Given the description of an element on the screen output the (x, y) to click on. 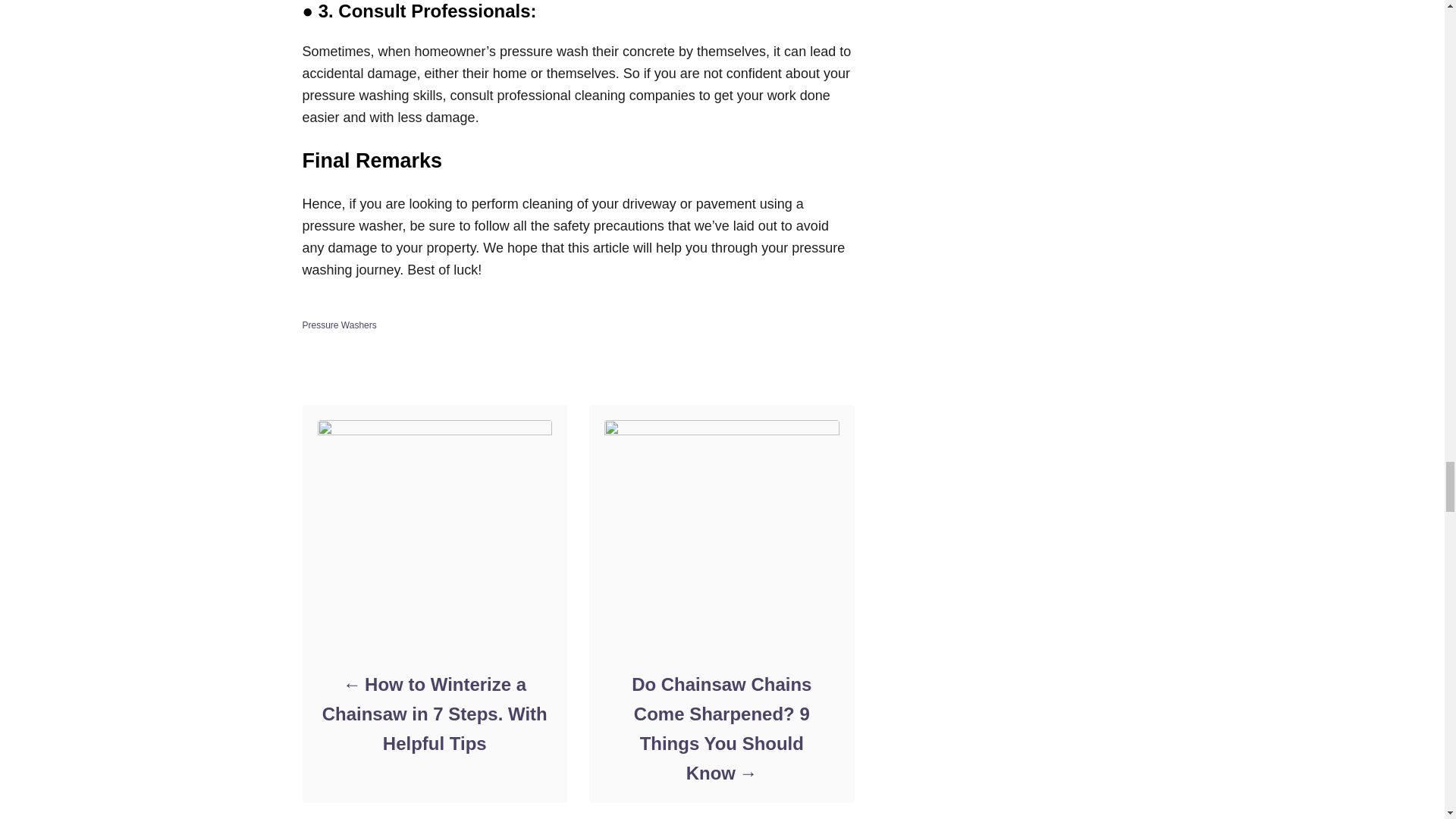
Pressure Washers (338, 325)
How to Winterize a Chainsaw in 7 Steps. With Helpful Tips (434, 713)
Do Chainsaw Chains Come Sharpened? 9 Things You Should Know (721, 728)
